Given the description of an element on the screen output the (x, y) to click on. 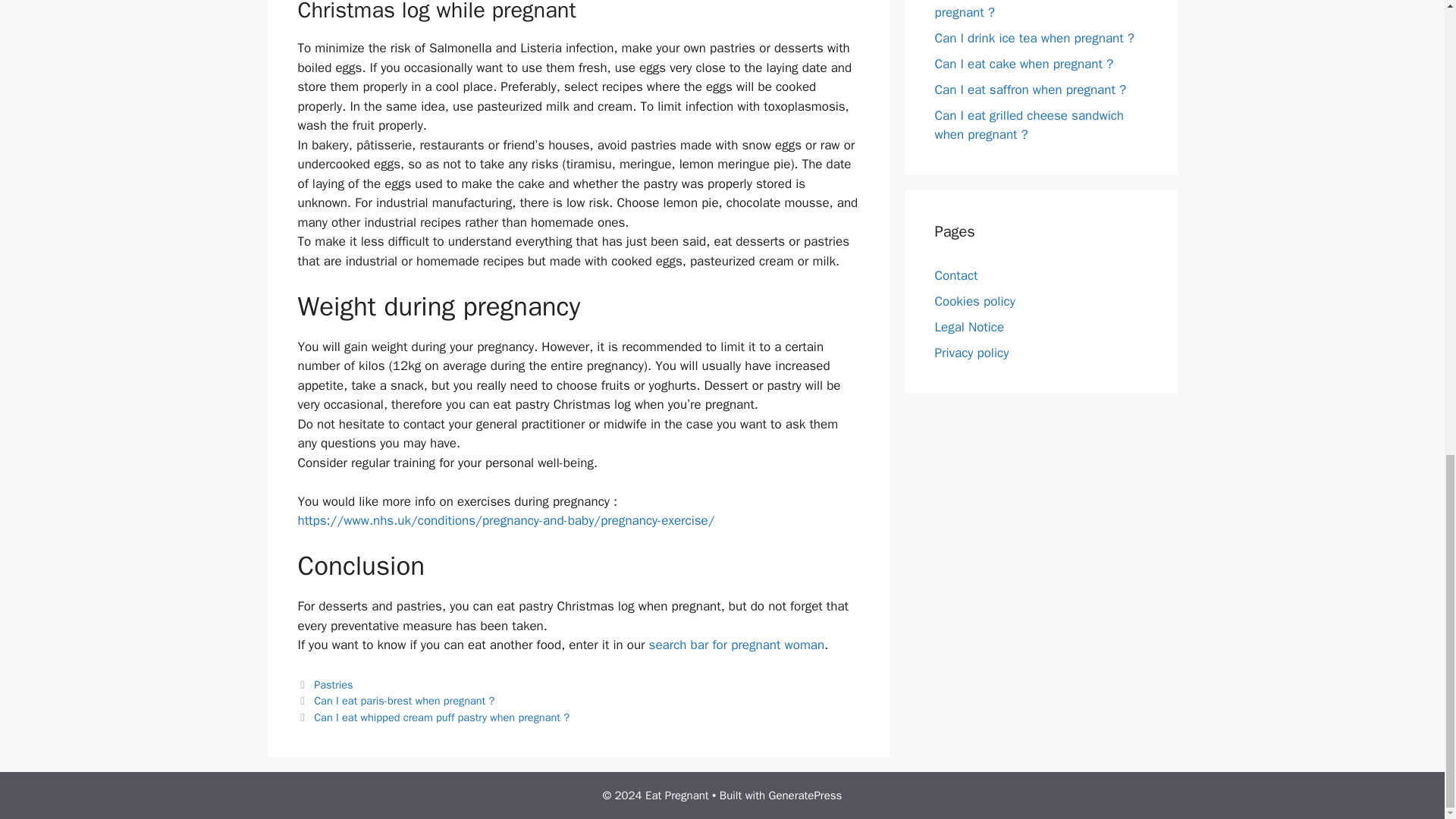
Can I eat whipped cream puff pastry when pregnant ? (441, 716)
search bar for pregnant woman (737, 644)
Pastries (333, 684)
Can I eat paris-brest when pregnant ? (404, 700)
